Given the description of an element on the screen output the (x, y) to click on. 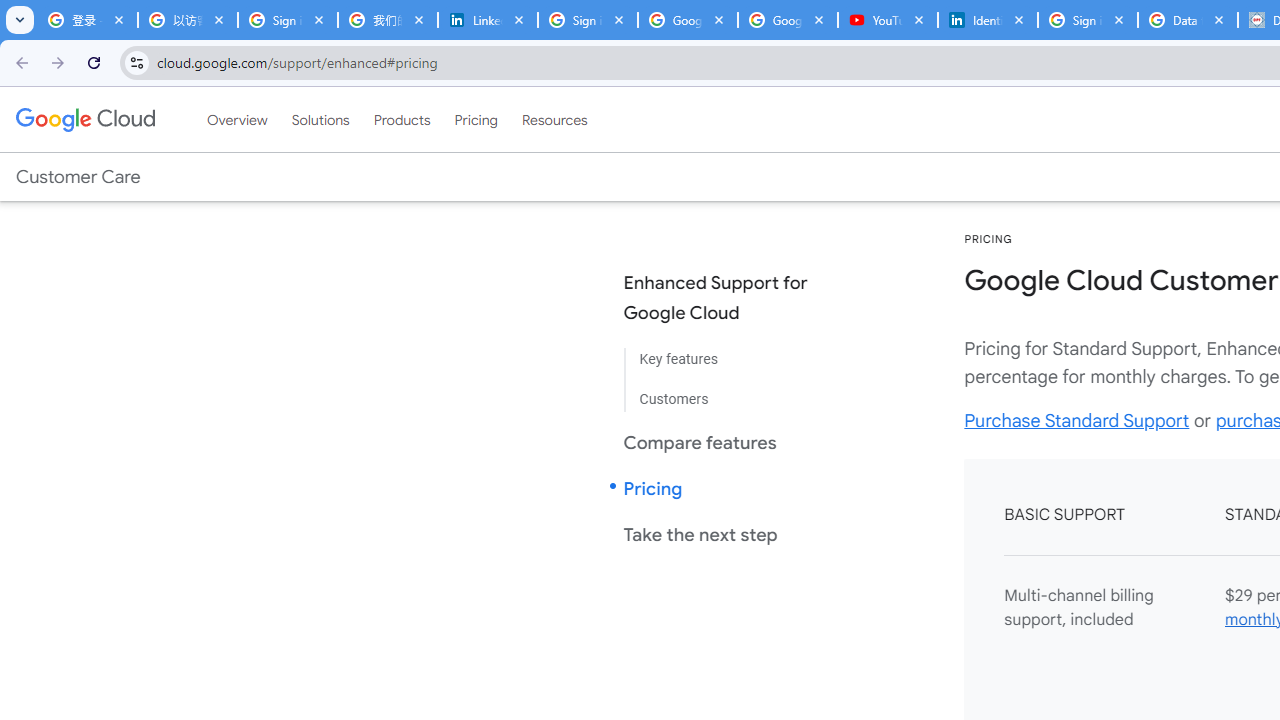
Purchase Standard Support (1076, 420)
Resources (553, 119)
Take the next step (732, 534)
Customers (732, 391)
Sign in - Google Accounts (1087, 20)
Compare features (732, 442)
Sign in - Google Accounts (287, 20)
Google Cloud (84, 119)
